Given the description of an element on the screen output the (x, y) to click on. 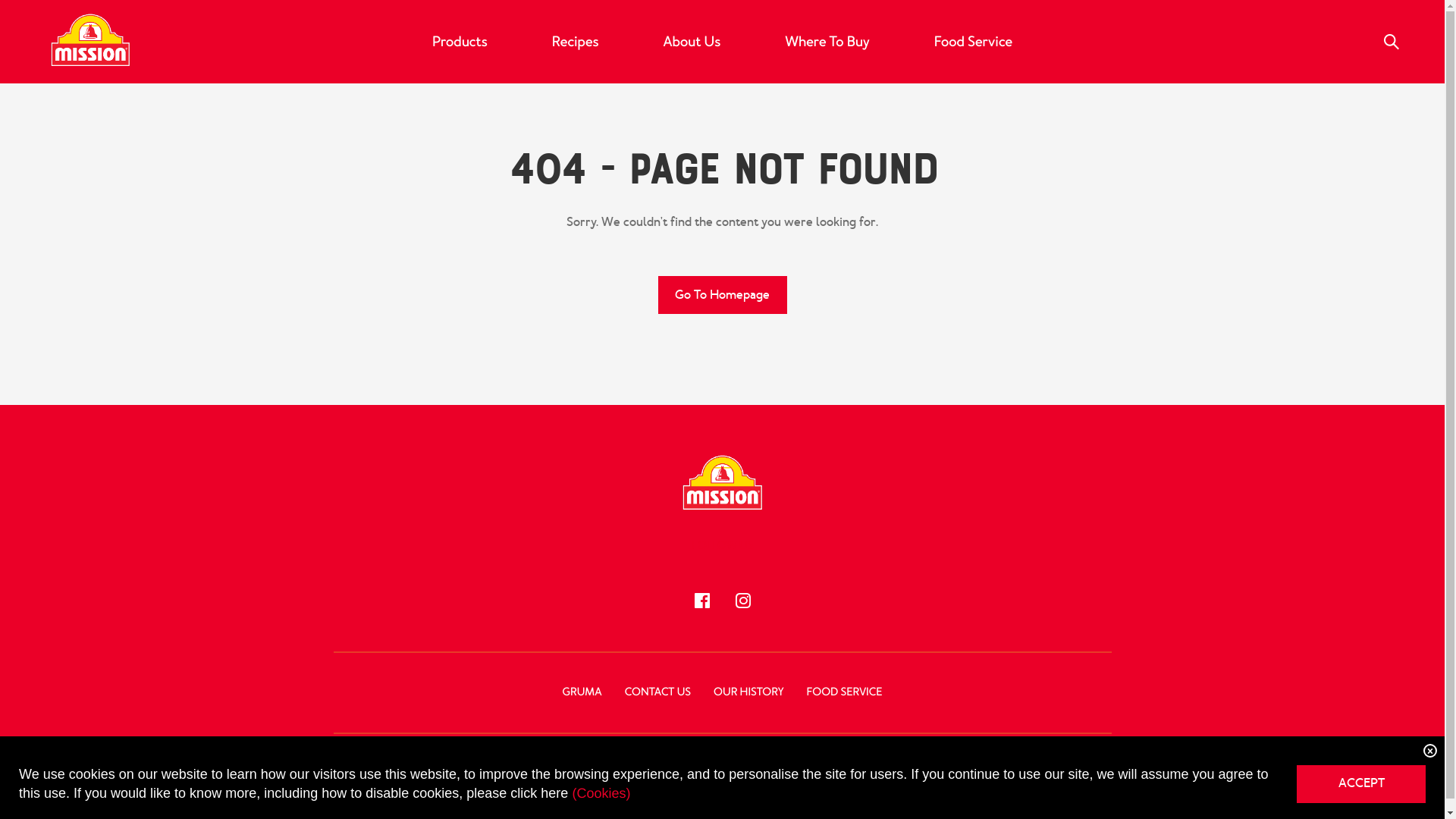
Terms & Conditions Element type: text (1111, 802)
Where To Buy Element type: text (826, 41)
GRUMA Element type: text (582, 692)
Food Service Element type: text (973, 41)
About Us Element type: text (691, 41)
Go To Homepage Element type: text (722, 294)
Follow us Element type: hover (743, 600)
CONTACT US Element type: text (657, 692)
FOOD SERVICE Element type: text (844, 692)
(Cookies) Element type: text (600, 793)
Follow us Element type: hover (702, 600)
Recipes Element type: text (575, 41)
Privacy Policy Element type: text (990, 802)
ACCEPT Element type: text (1360, 784)
OUR HISTORY Element type: text (748, 692)
Products Element type: text (459, 41)
